Given the description of an element on the screen output the (x, y) to click on. 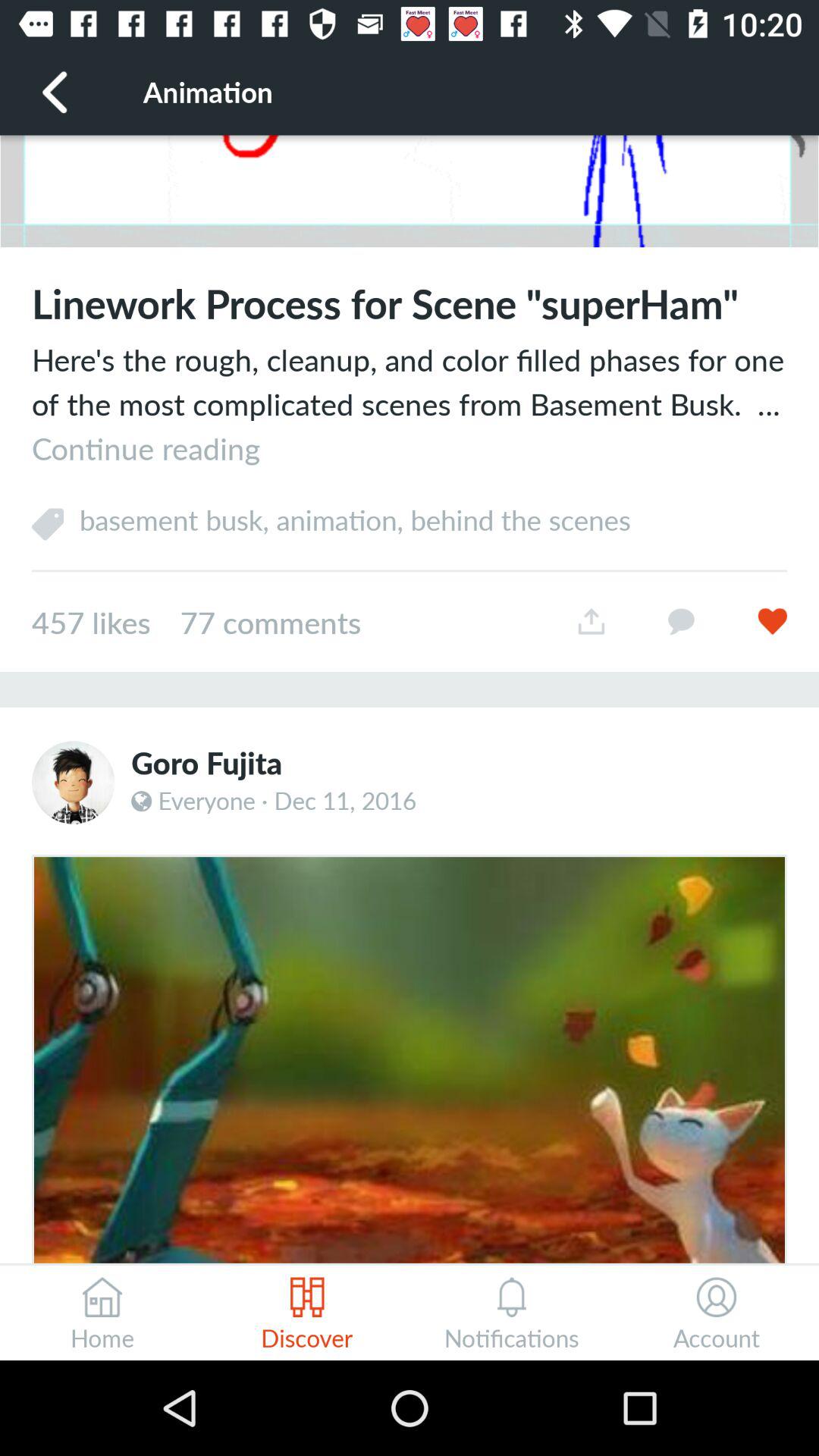
choose icon to the left of animation icon (55, 91)
